Given the description of an element on the screen output the (x, y) to click on. 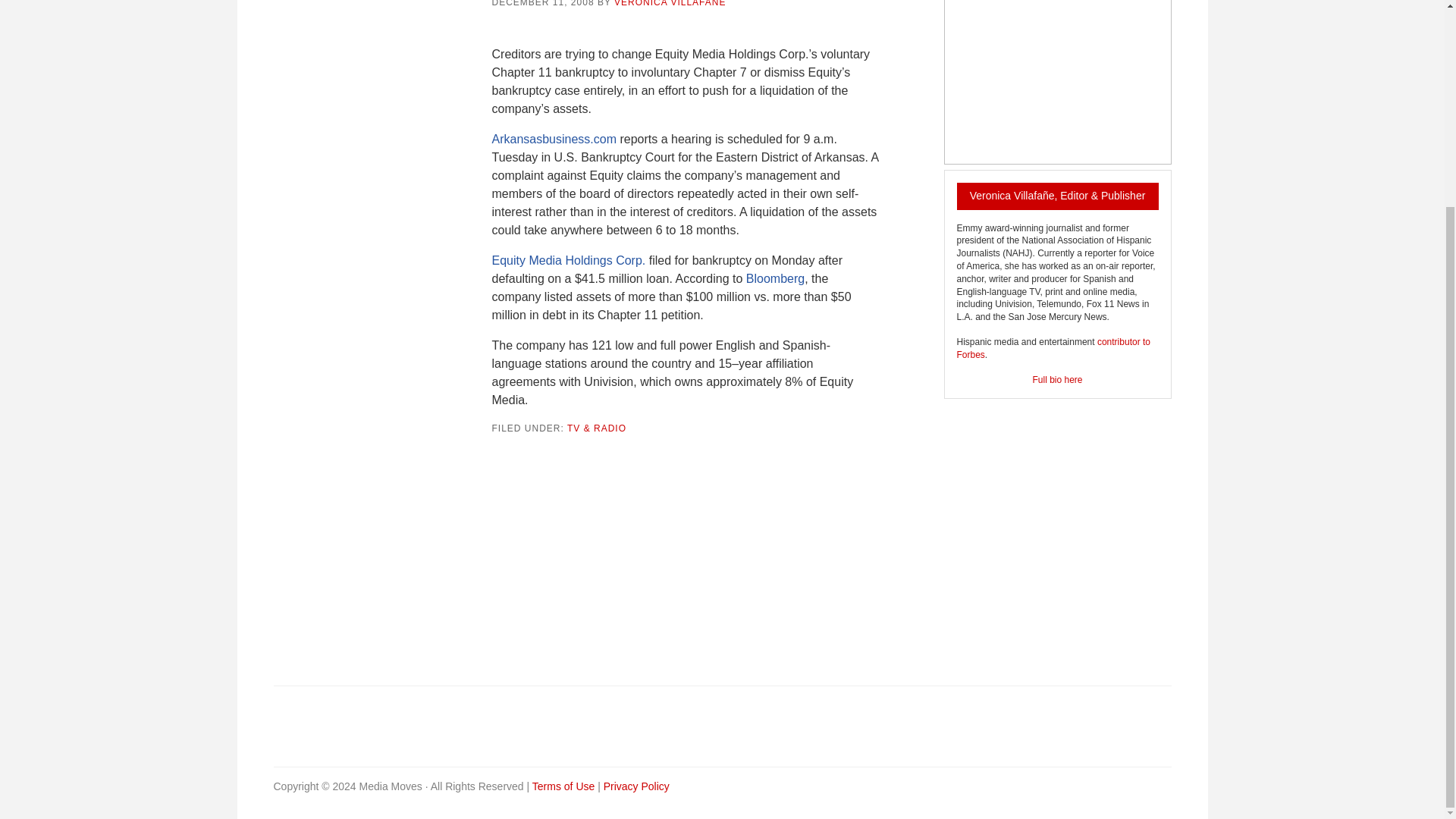
Equity Media Holdings Corp. (568, 259)
contributor to Forbes (1053, 348)
Arkansasbusiness.com (553, 138)
Bloomberg (775, 278)
